Given the description of an element on the screen output the (x, y) to click on. 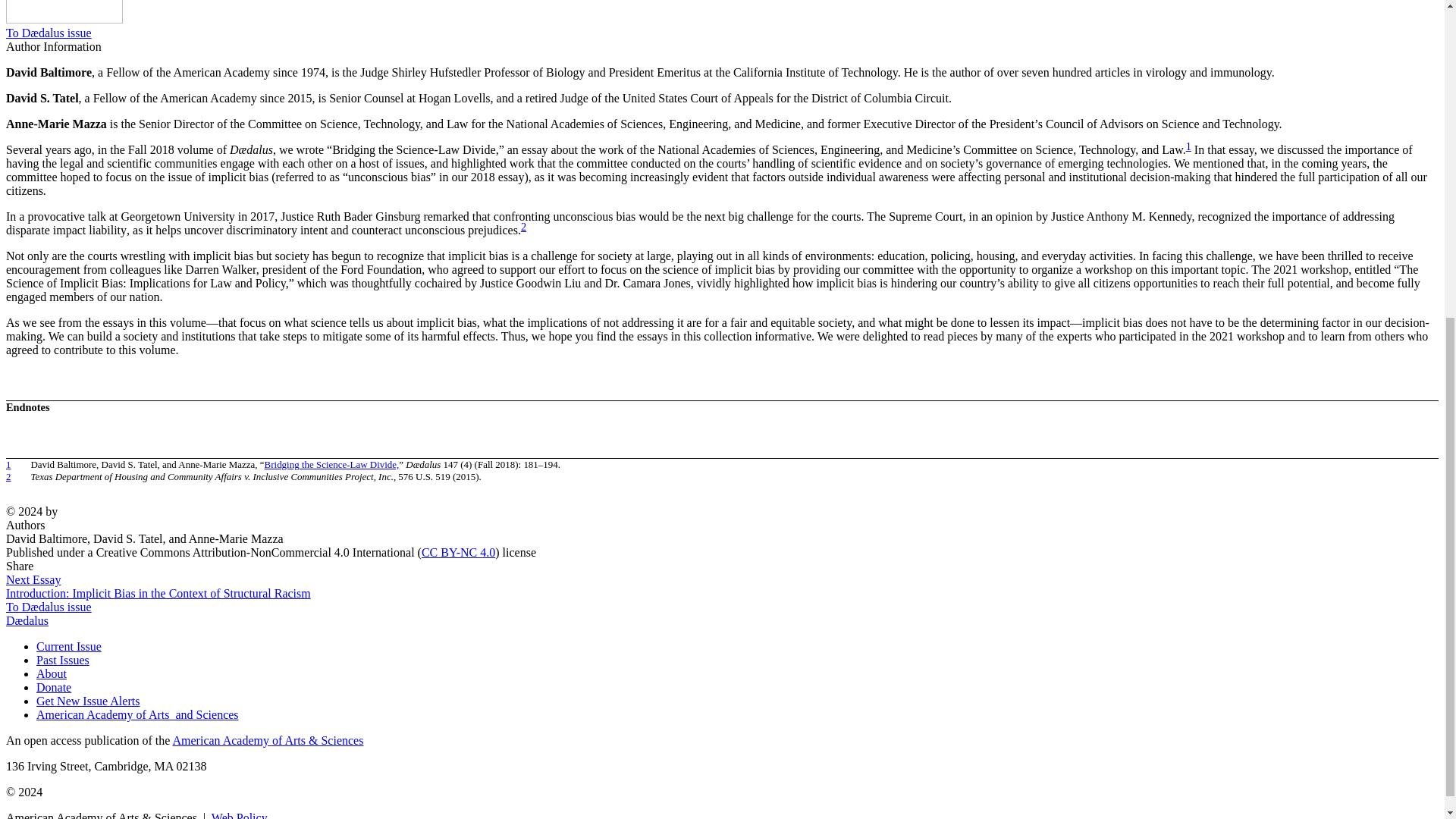
Get New Issue Alerts (87, 700)
Author Information (53, 46)
American Academy of Arts and Sciences (137, 714)
CC BY-NC 4.0 (458, 552)
Past Issues (62, 659)
About (51, 673)
Current Issue (68, 645)
Bridging the Science-Law Divide, (331, 464)
Donate (53, 686)
